Given the description of an element on the screen output the (x, y) to click on. 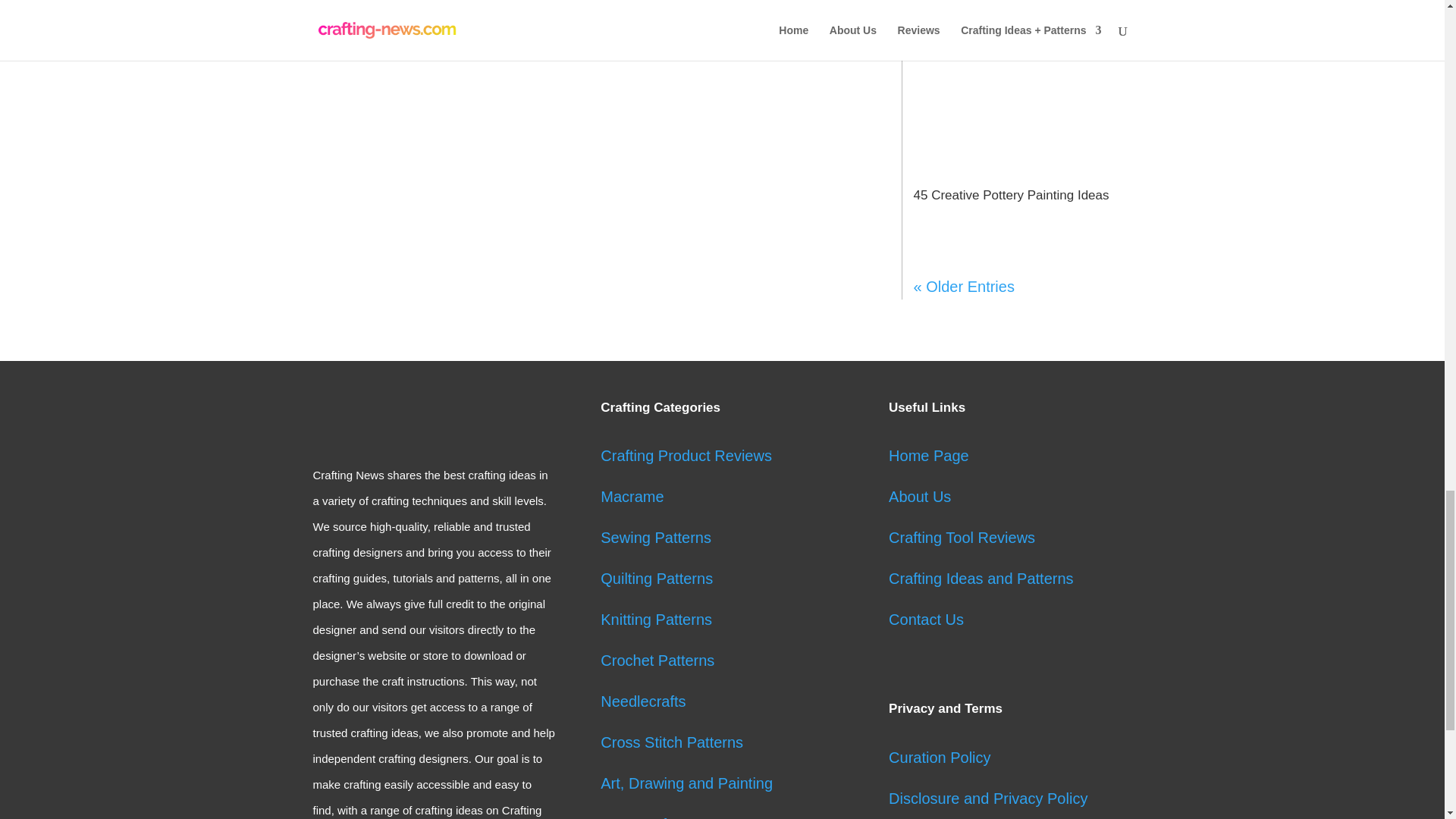
Crafting News Logo (409, 417)
